Given the description of an element on the screen output the (x, y) to click on. 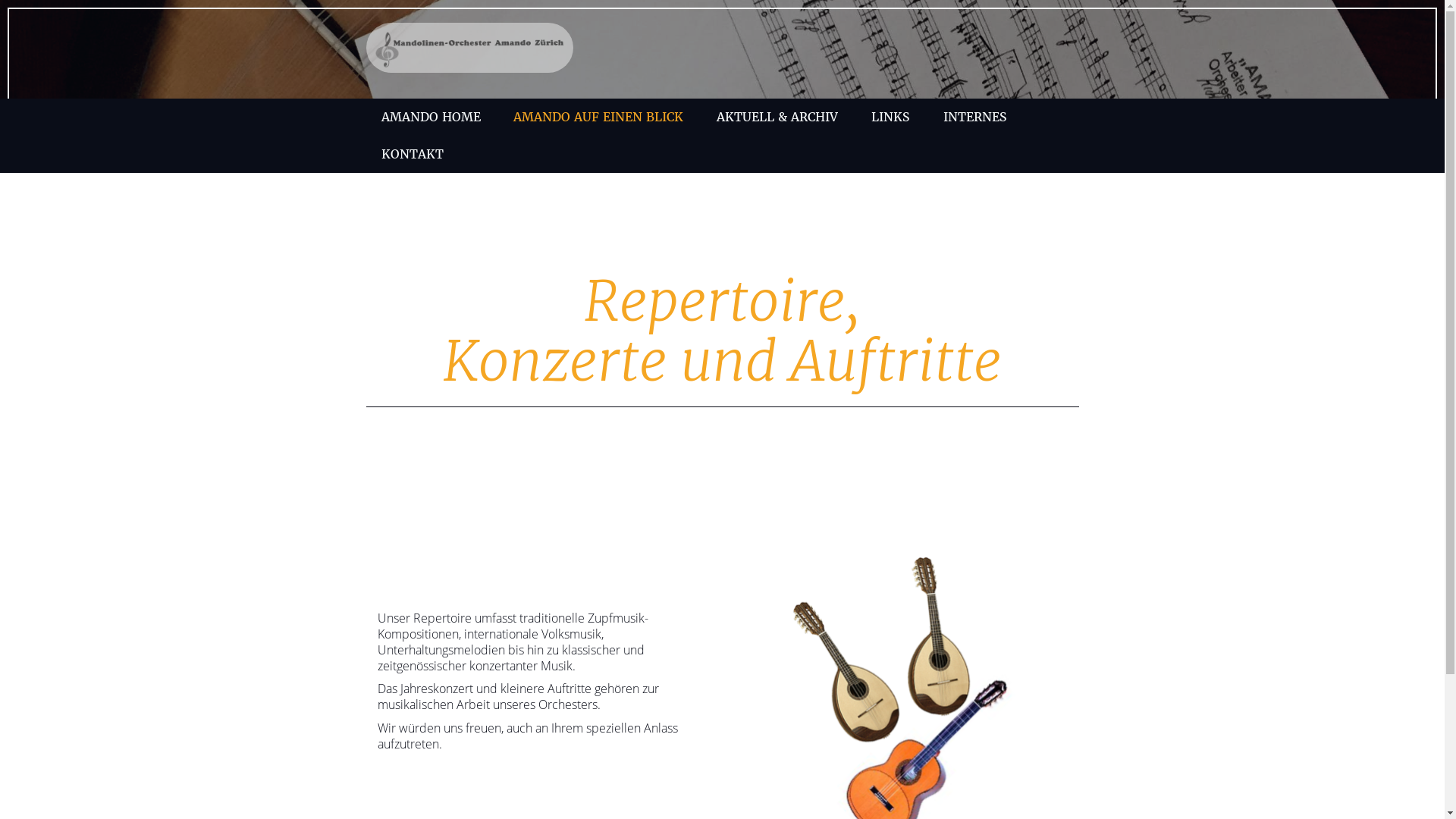
INTERNES Element type: text (975, 116)
AKTUELL & ARCHIV Element type: text (777, 116)
LINKS Element type: text (890, 116)
KONTAKT Element type: text (411, 153)
AMANDO AUF EINEN BLICK Element type: text (598, 116)
AMANDO HOME Element type: text (430, 116)
